Given the description of an element on the screen output the (x, y) to click on. 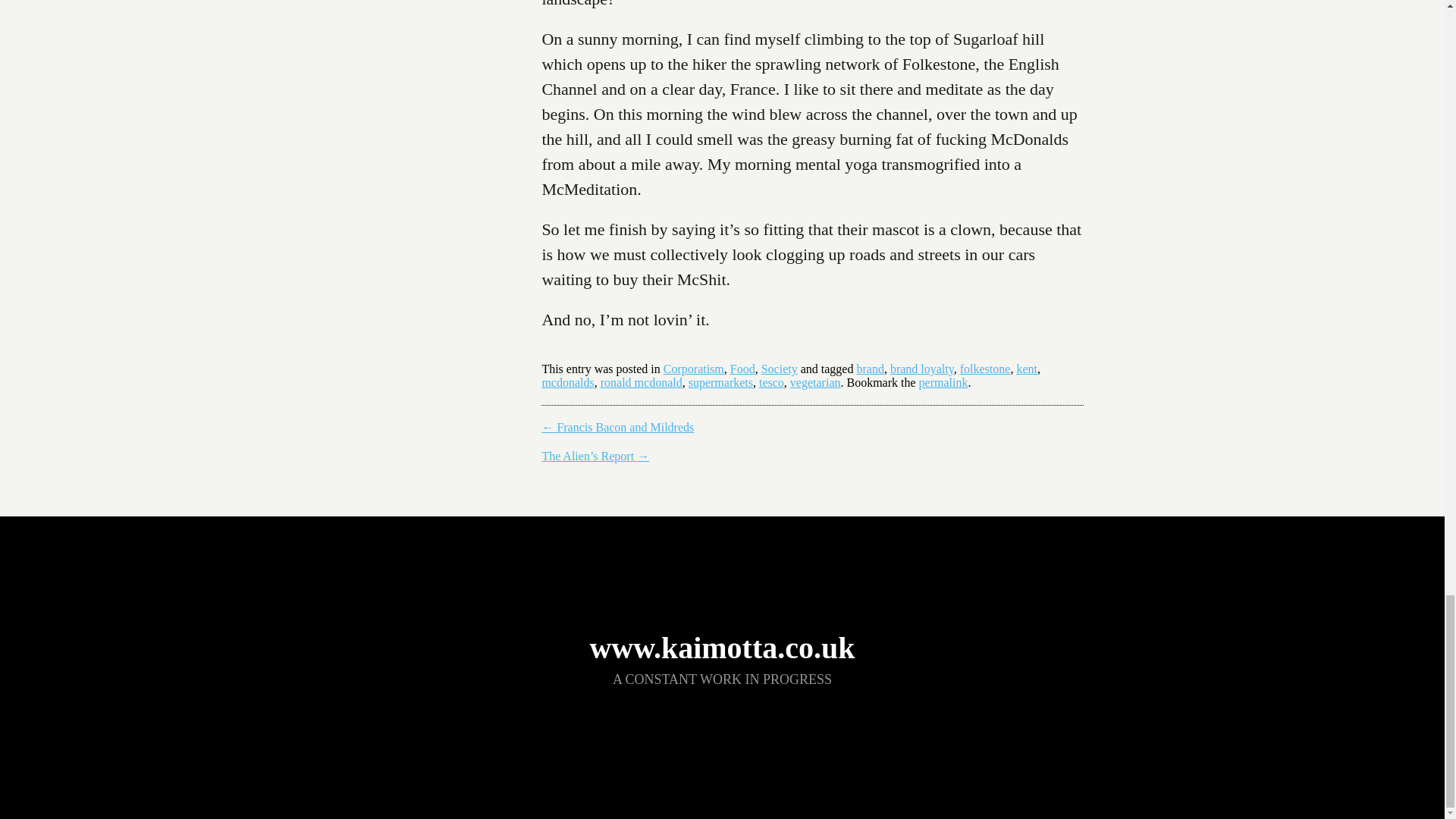
vegetarian (815, 382)
brand (869, 368)
permalink (943, 382)
Corporatism (693, 368)
ronald mcdonald (640, 382)
Society (779, 368)
mcdonalds (567, 382)
kent (1026, 368)
Food (742, 368)
tesco (771, 382)
